Given the description of an element on the screen output the (x, y) to click on. 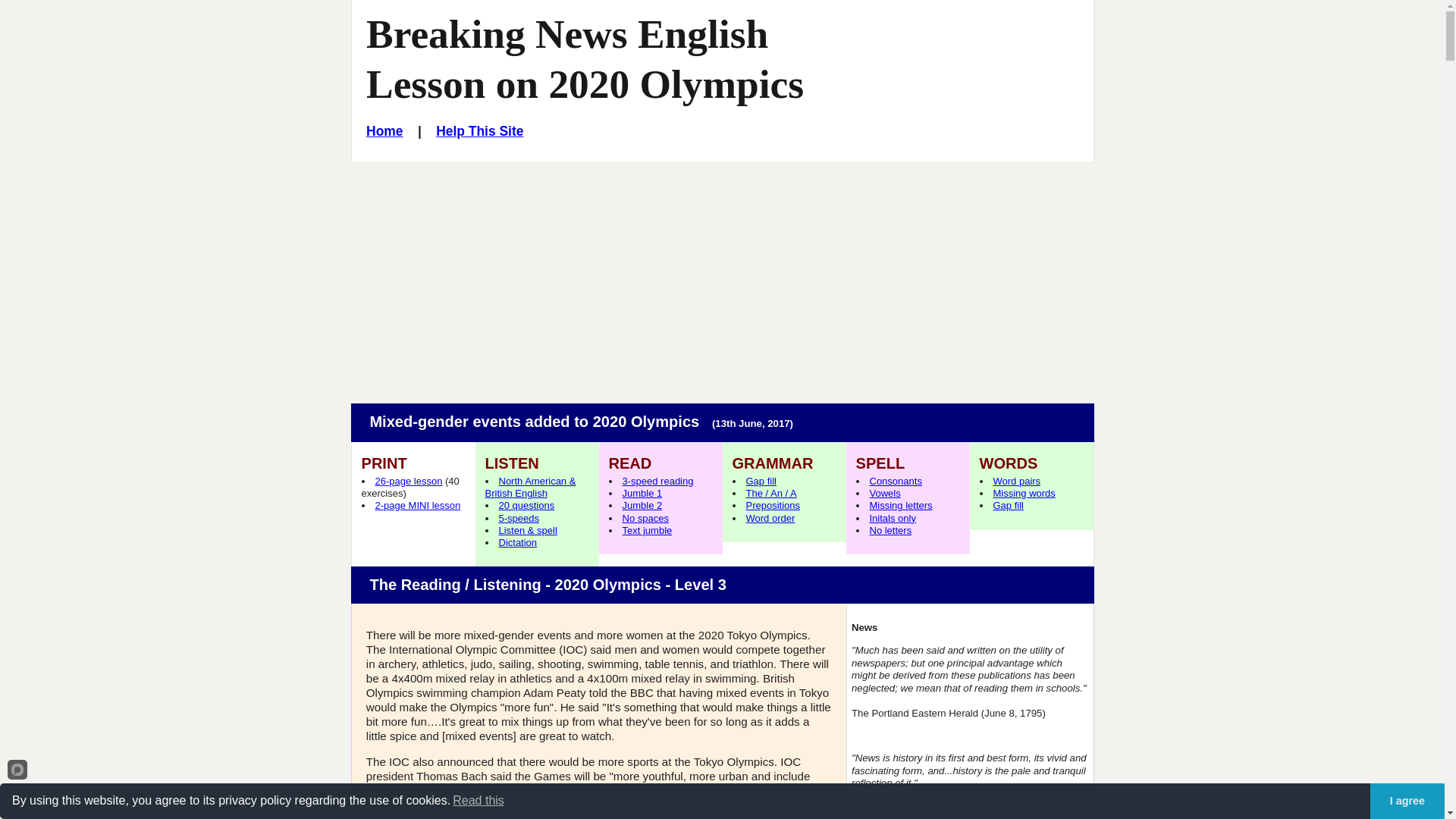
No letters (890, 530)
26-page lesson (408, 480)
Consonants (895, 480)
2-page MINI lesson (417, 505)
Help This Site (478, 130)
Jumble 1 (641, 492)
Jumble 2 (641, 505)
Text jumble (646, 530)
No spaces (644, 518)
Gap fill (760, 480)
Breaking News English Lesson on 2020 Olympics (584, 59)
Gap fill (1007, 505)
Missing words (1023, 492)
